Given the description of an element on the screen output the (x, y) to click on. 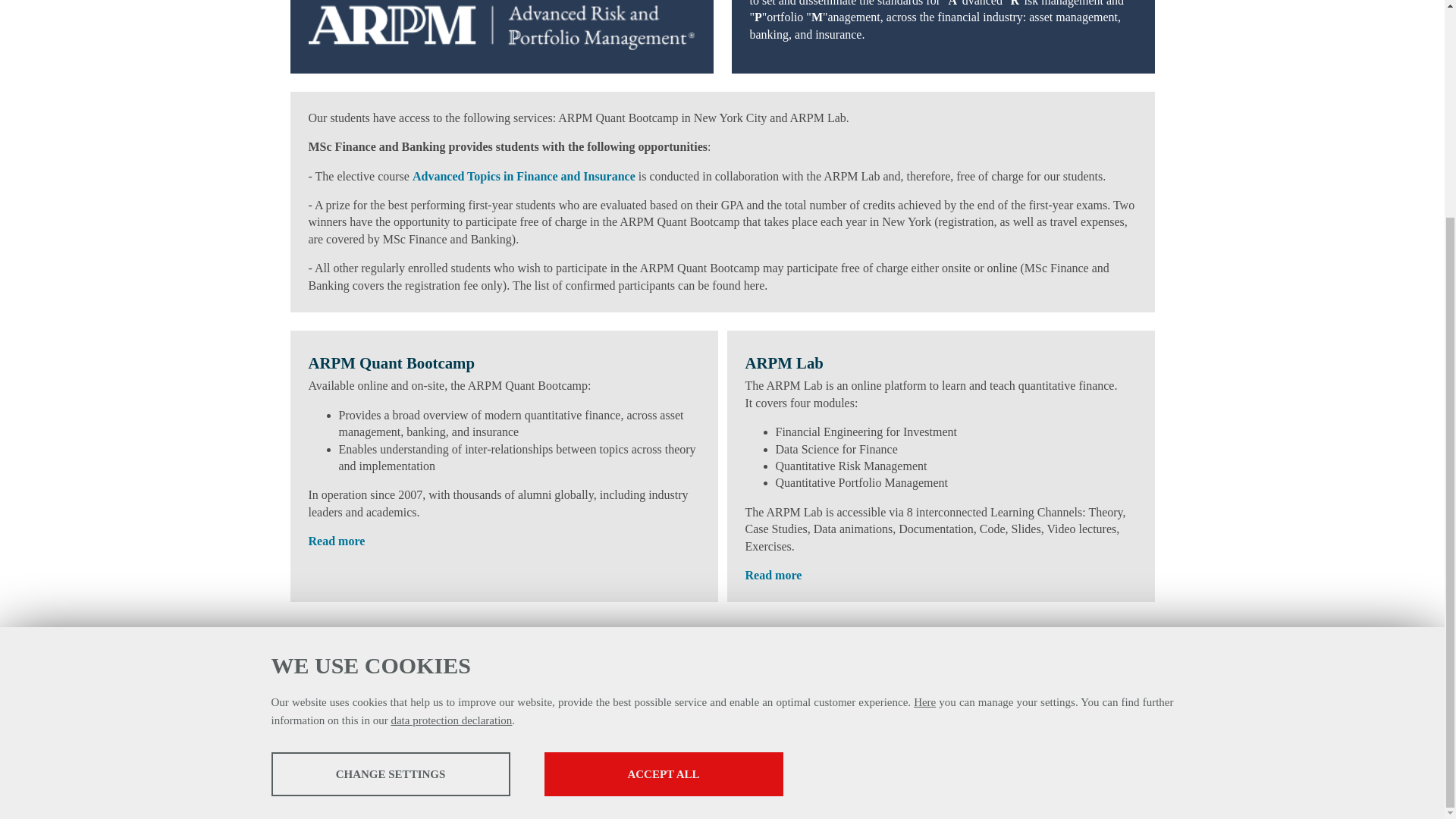
Here (925, 415)
ACCEPT ALL (663, 487)
data protection declaration (451, 433)
CHANGE SETTINGS (390, 487)
